Given the description of an element on the screen output the (x, y) to click on. 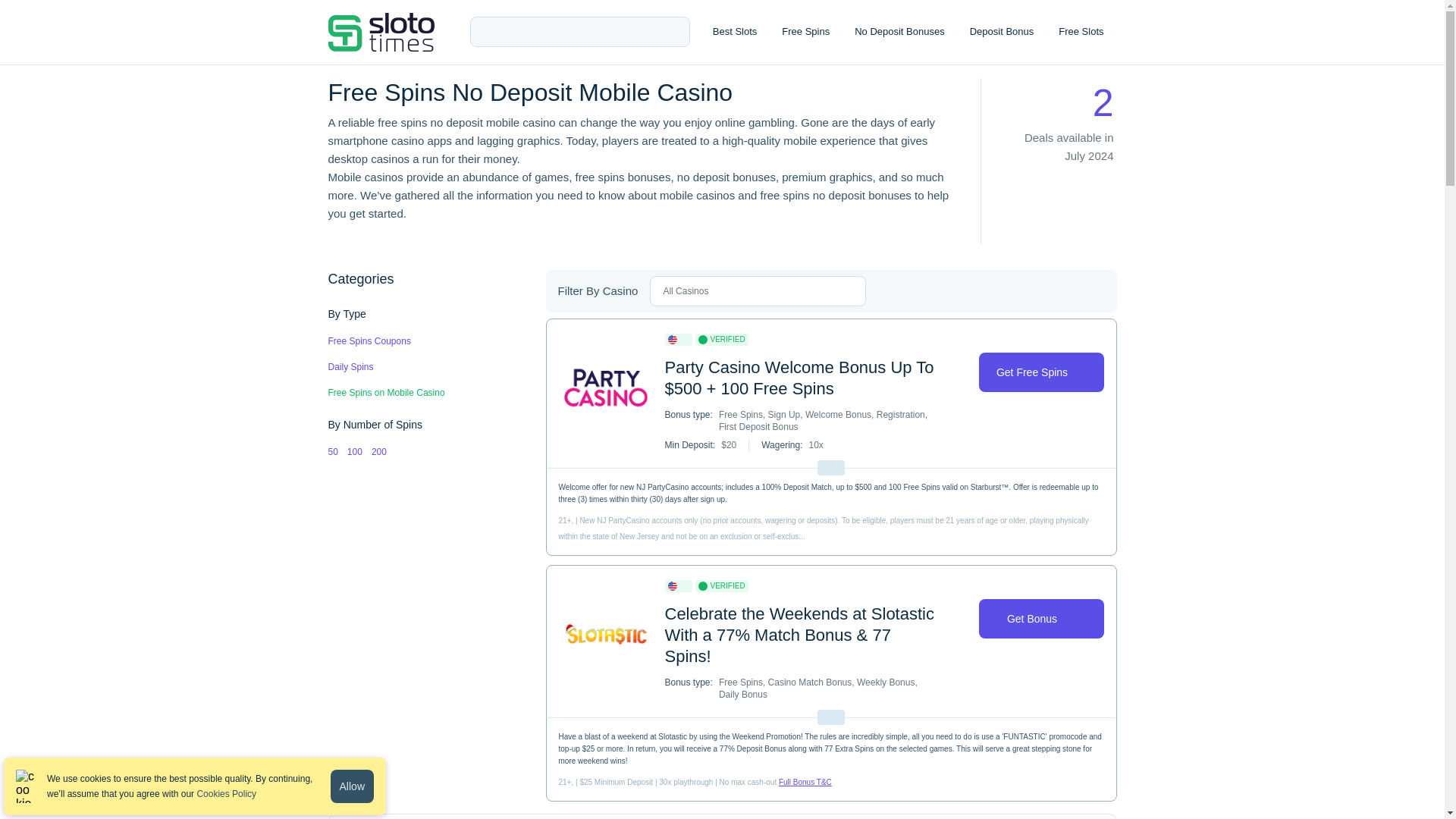
US (671, 585)
US (671, 338)
No Deposit Bonuses (899, 31)
Free Spins (805, 31)
Best Slots (735, 31)
